Given the description of an element on the screen output the (x, y) to click on. 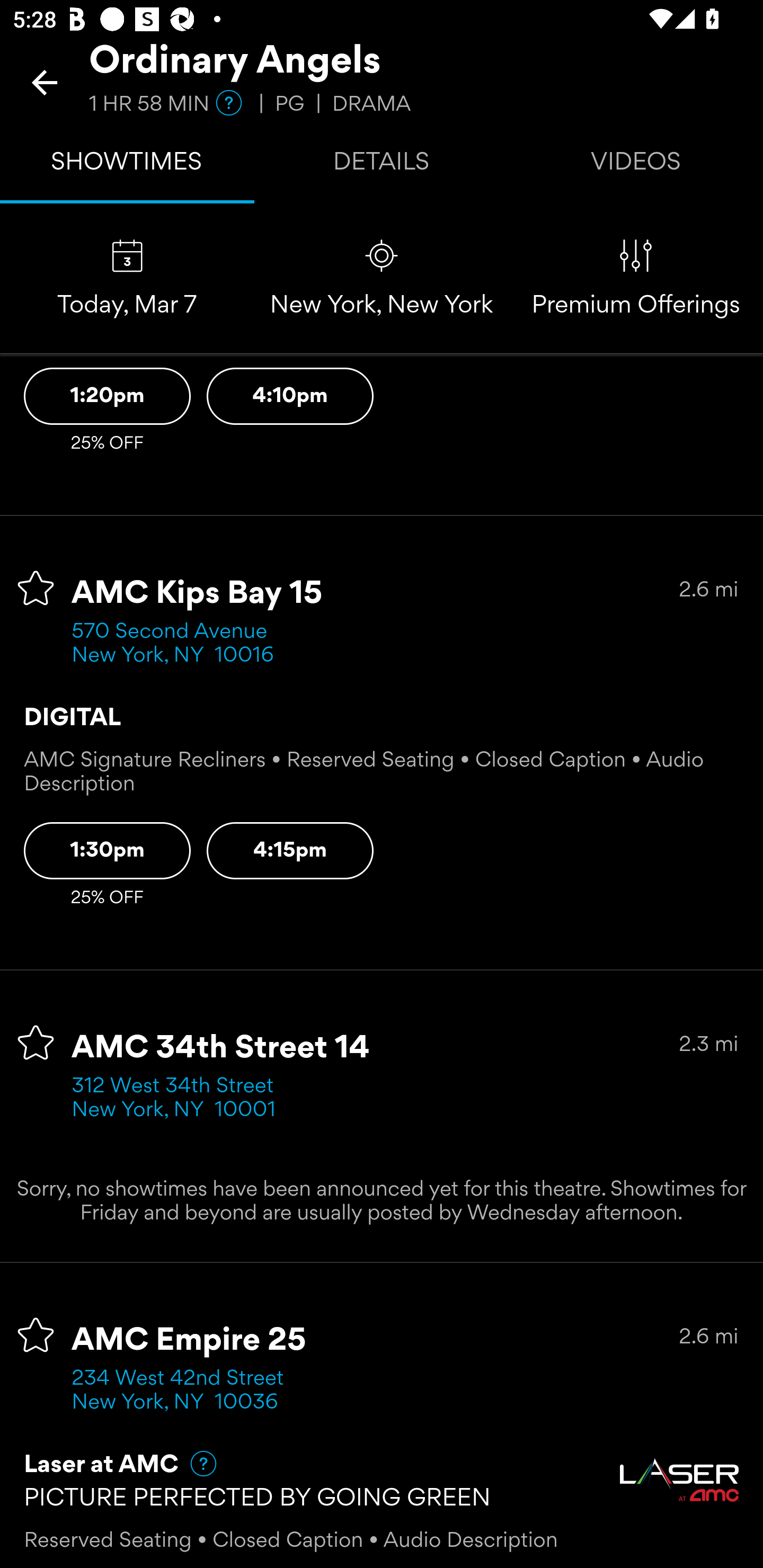
Back (44, 82)
SHOWTIMES
Tab 1 of 3 (127, 165)
DETAILS
Tab 2 of 3 (381, 165)
VIDEOS
Tab 3 of 3 (635, 165)
Change selected day
Today, Mar 7 (127, 279)
Change location
New York, New York (381, 279)
Premium Offerings
Premium Offerings (635, 279)
AMC Kips Bay 15 (196, 594)
570 Second Avenue  
New York, NY  10016 (175, 643)
AMC Kips Bay 15 DIGITAL 1:30pm Showtime Button (106, 850)
AMC Kips Bay 15 DIGITAL 4:15pm Showtime Button (289, 850)
AMC 34th Street 14 (220, 1048)
312 West 34th Street  
New York, NY  10001 (178, 1098)
AMC Empire 25 (188, 1341)
234 West 42nd Street  
New York, NY  10036 (183, 1390)
Help (195, 1462)
